Given the description of an element on the screen output the (x, y) to click on. 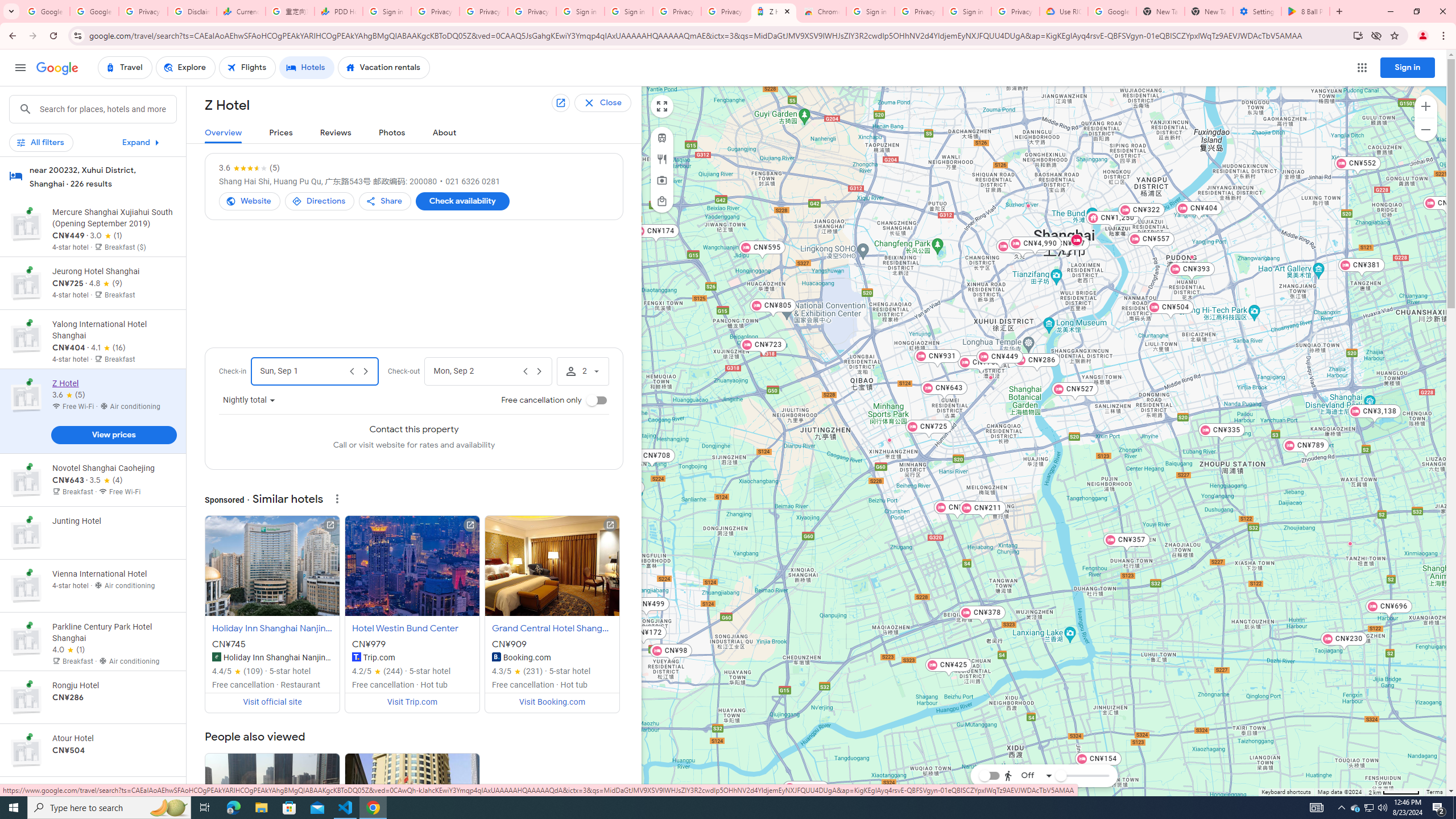
Sign in - Google Accounts (628, 11)
Chrome Web Store - Color themes by Chrome (822, 11)
View prices for Rongju Hotel (113, 737)
Z Hotel - Google hotels (773, 11)
Expand (142, 142)
Flights (247, 67)
